Given the description of an element on the screen output the (x, y) to click on. 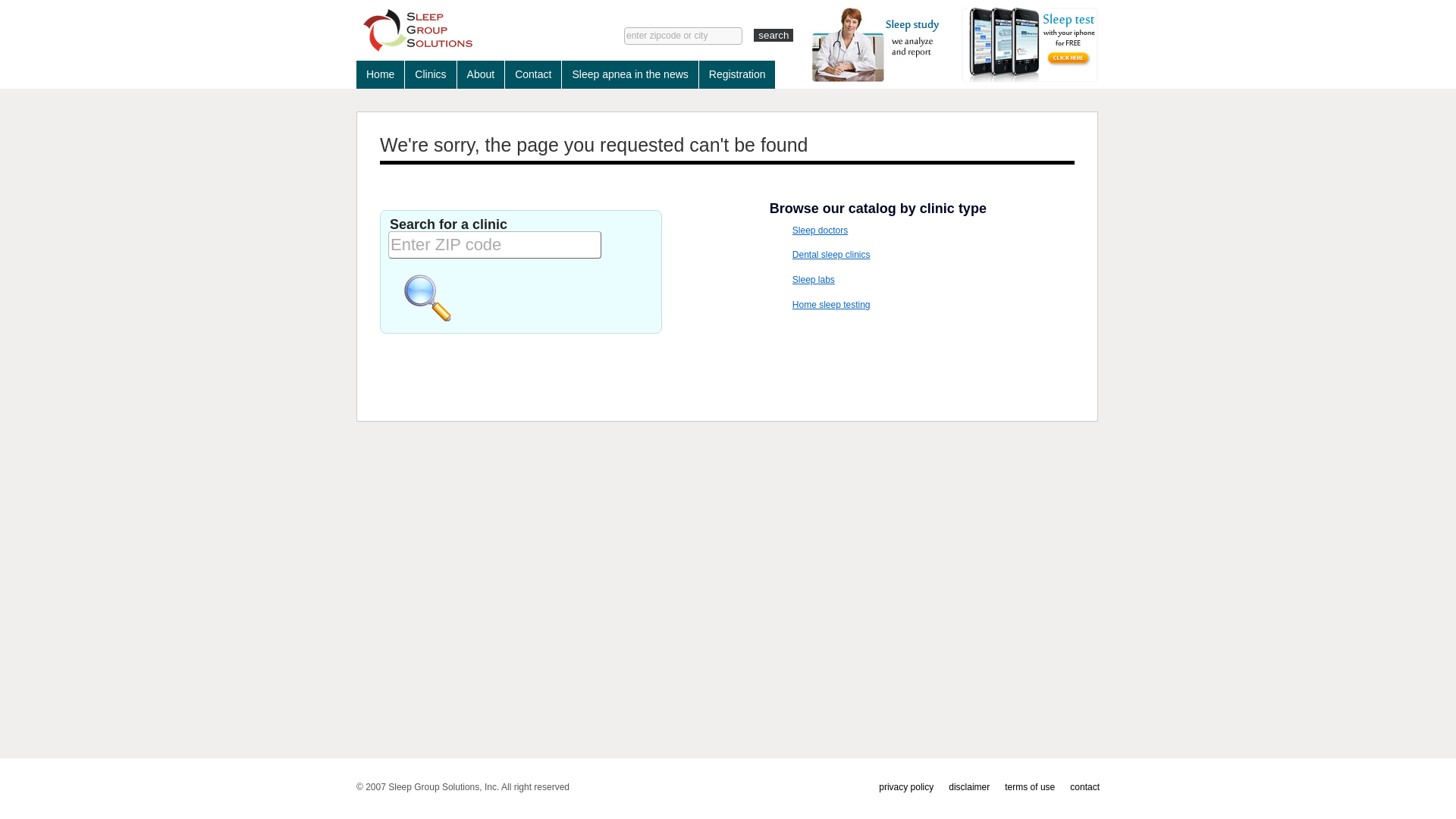
About Element type: text (481, 74)
Sleep labs Element type: text (813, 279)
search Element type: text (773, 34)
Sleep doctors Element type: text (819, 230)
terms of use Element type: text (1029, 786)
privacy policy Element type: text (905, 786)
Sleep apnea in the news Element type: text (629, 74)
Home sleep testing Element type: text (831, 304)
Dental sleep clinics Element type: text (831, 254)
Registration Element type: text (737, 74)
Sleep lab Element type: text (466, 30)
Contact Element type: text (533, 74)
disclaimer Element type: text (968, 786)
contact Element type: text (1084, 786)
Home Element type: text (380, 74)
Clinics Element type: text (429, 74)
